Given the description of an element on the screen output the (x, y) to click on. 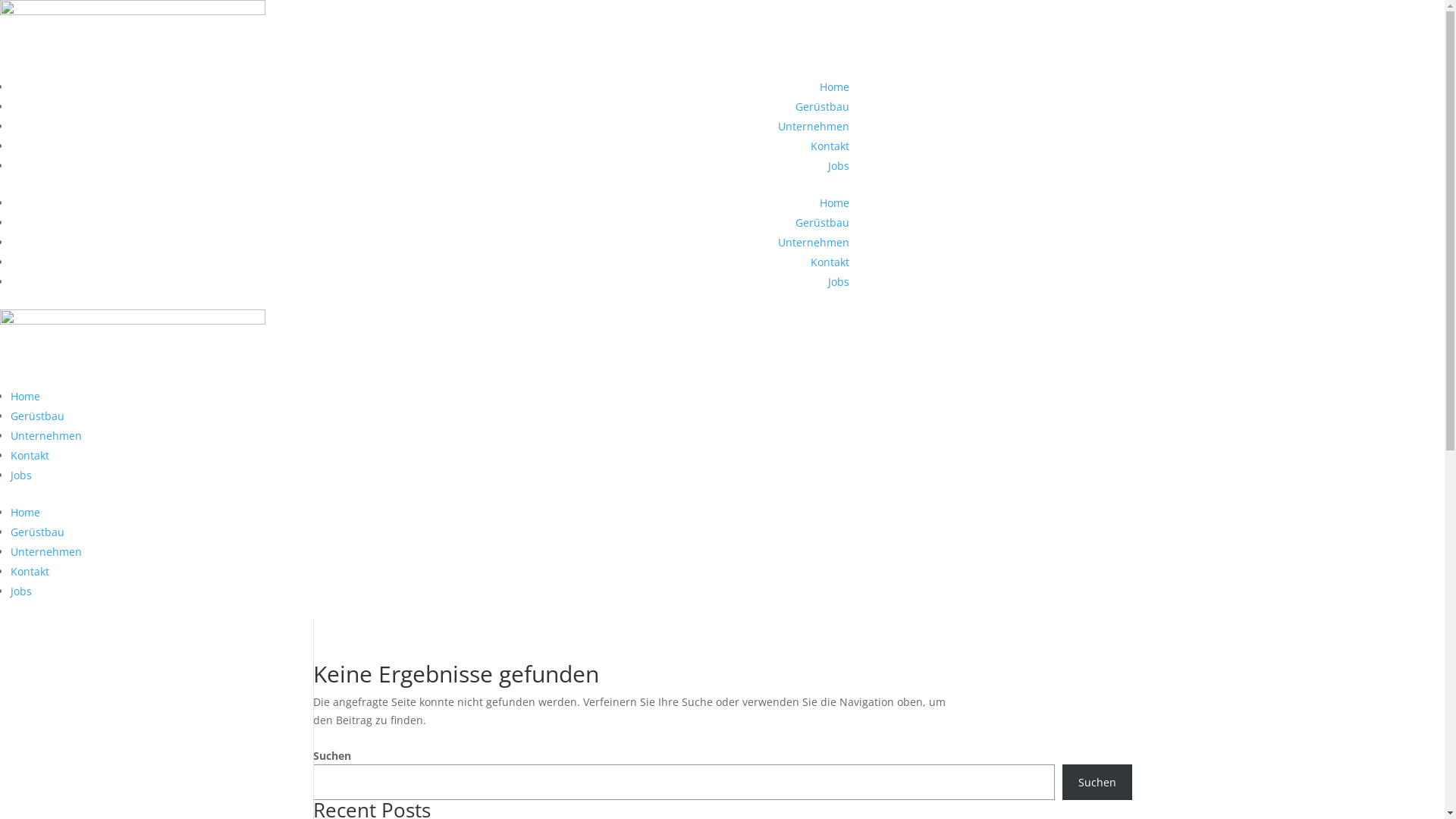
Unternehmen Element type: text (813, 126)
Jobs Element type: text (20, 474)
Jobs Element type: text (838, 281)
Home Element type: text (834, 202)
Kontakt Element type: text (29, 455)
Unternehmen Element type: text (813, 242)
Kontakt Element type: text (829, 261)
Kontakt Element type: text (29, 571)
Kontakt Element type: text (829, 145)
Suchen Element type: text (1096, 781)
Home Element type: text (25, 512)
ABAG_Logo_m.Slogan_rot-2 Element type: hover (132, 38)
Jobs Element type: text (838, 165)
Home Element type: text (25, 396)
Home Element type: text (834, 86)
Unternehmen Element type: text (45, 551)
Jobs Element type: text (20, 590)
Unternehmen Element type: text (45, 435)
